Given the description of an element on the screen output the (x, y) to click on. 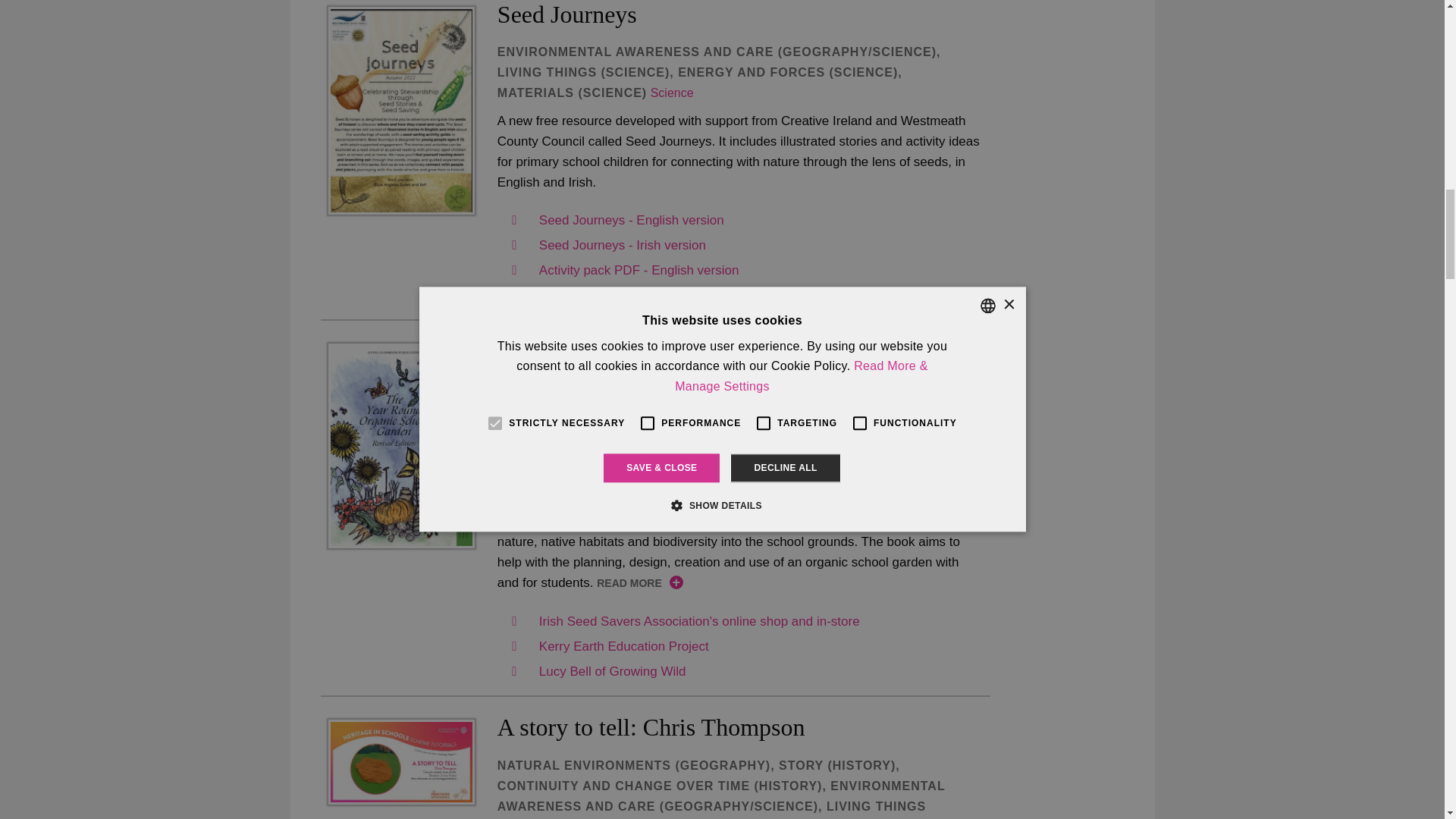
Seed Journeys (400, 110)
A story to tell: Chris Thompson (400, 761)
